Given the description of an element on the screen output the (x, y) to click on. 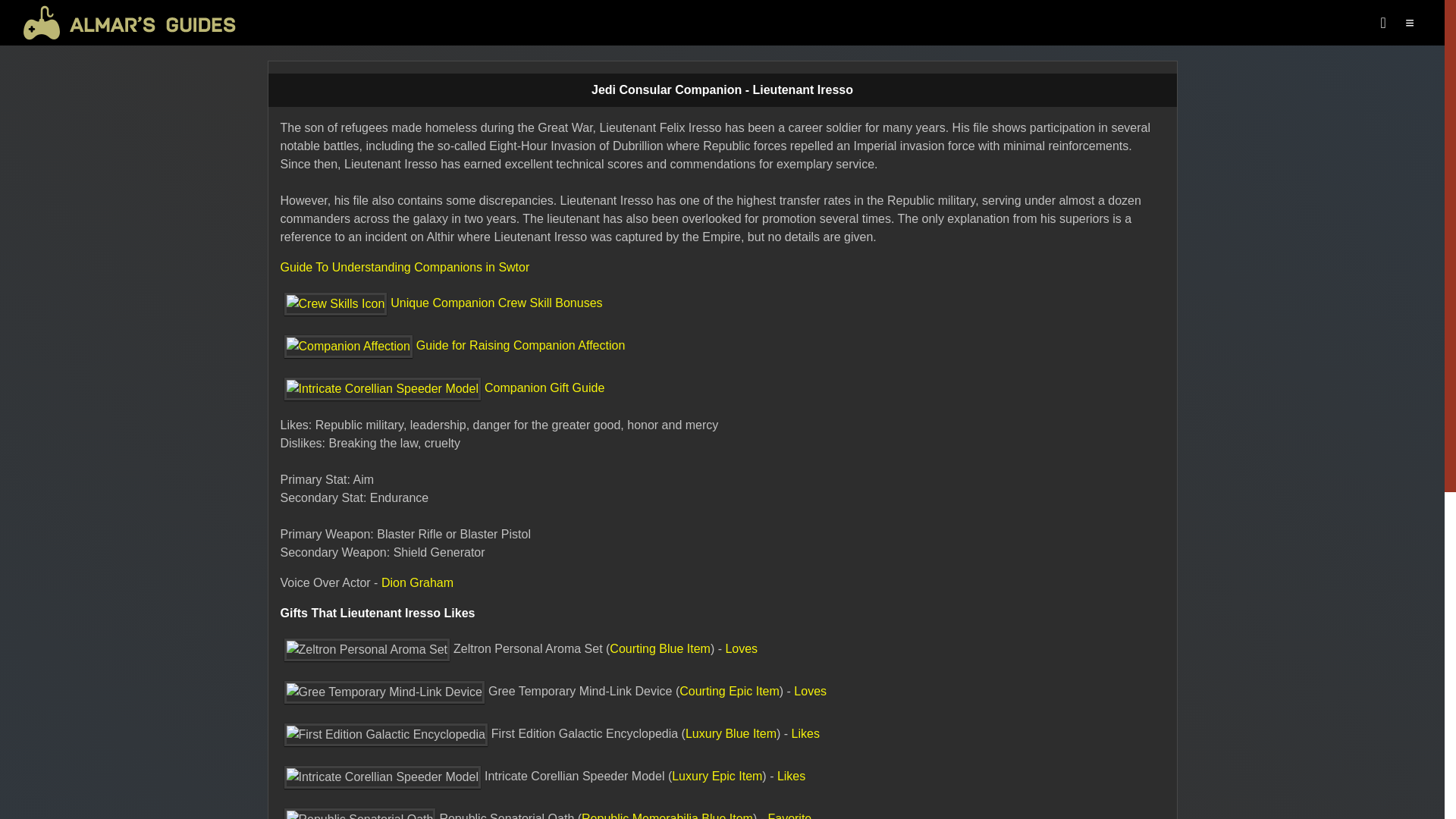
Republic Memorabilia Blue Item (666, 815)
Favorite (788, 815)
Likes (805, 733)
Unique Companion Crew Skill Bonuses (441, 302)
Guide To Understanding Companions in Swtor (405, 267)
Likes (791, 775)
Loves (810, 690)
Courting Blue Item (660, 648)
Luxury Epic Item (716, 775)
Guide for Raising Companion Affection (453, 345)
